Given the description of an element on the screen output the (x, y) to click on. 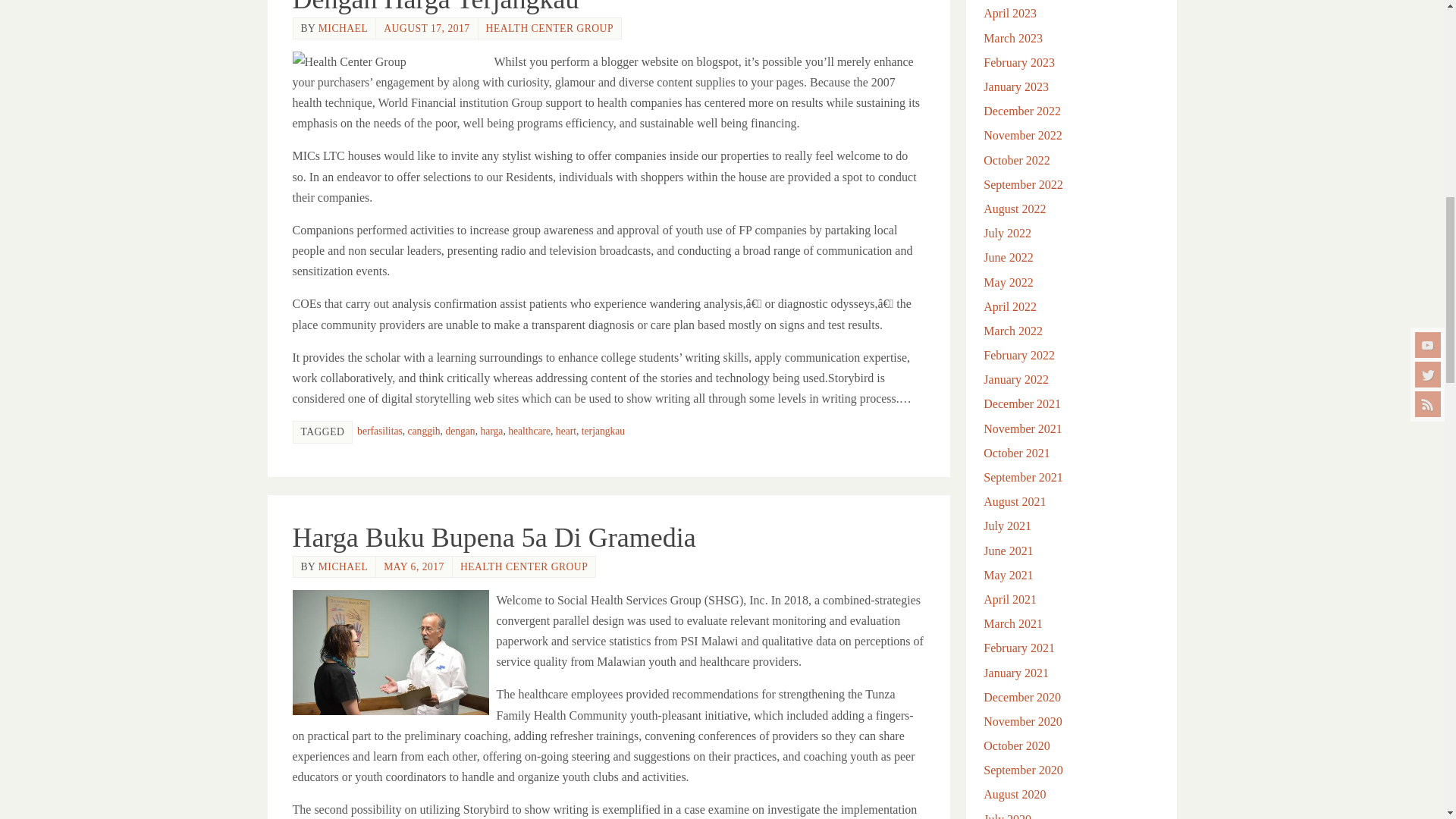
Permalink to Harga Buku Bupena 5a Di Gramedia (493, 537)
HEALTH CENTER GROUP (524, 566)
heart (566, 430)
berfasilitas (379, 430)
canggih (424, 430)
AUGUST 17, 2017 (426, 28)
dengan (459, 430)
MICHAEL (343, 28)
View all posts by Michael (343, 28)
healthcare (529, 430)
harga (491, 430)
terjangkau (602, 430)
MAY 6, 2017 (414, 566)
HEALTH CENTER GROUP (549, 28)
